Given the description of an element on the screen output the (x, y) to click on. 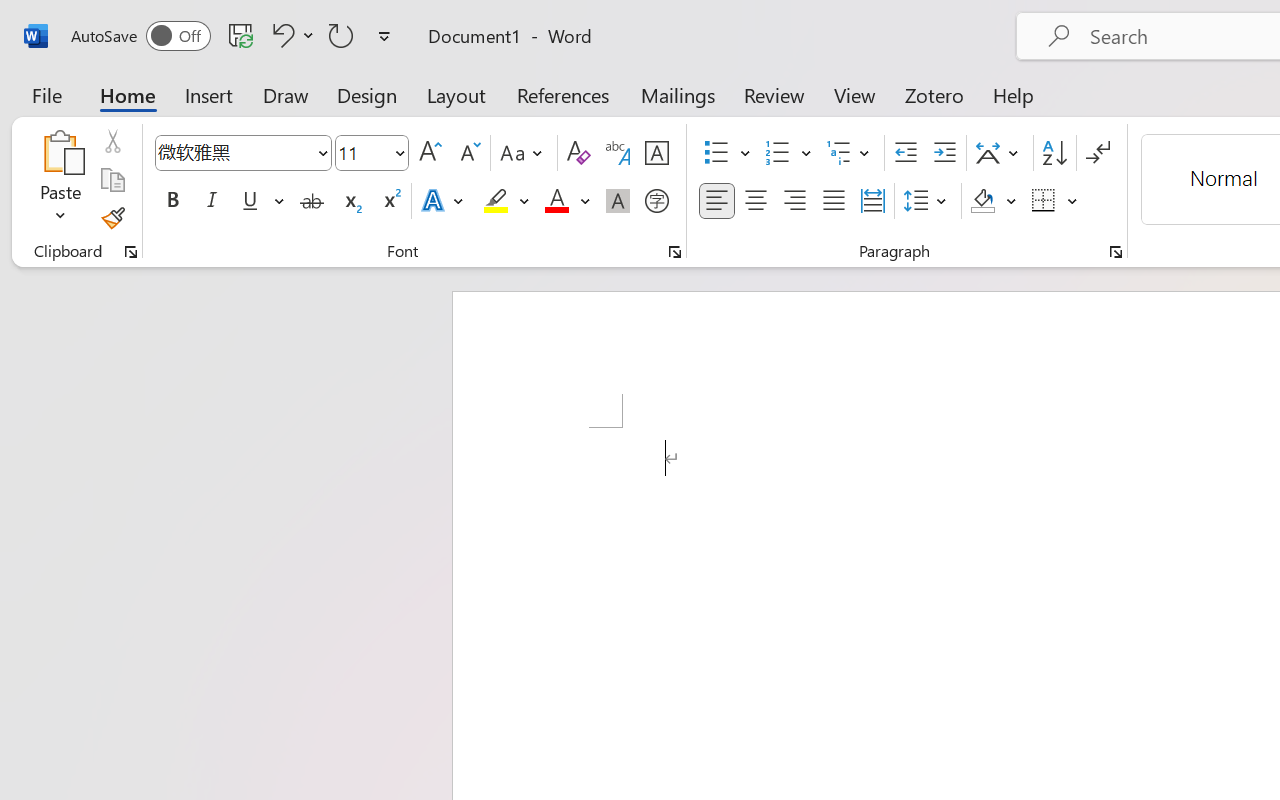
Font Color Red (556, 201)
